Given the description of an element on the screen output the (x, y) to click on. 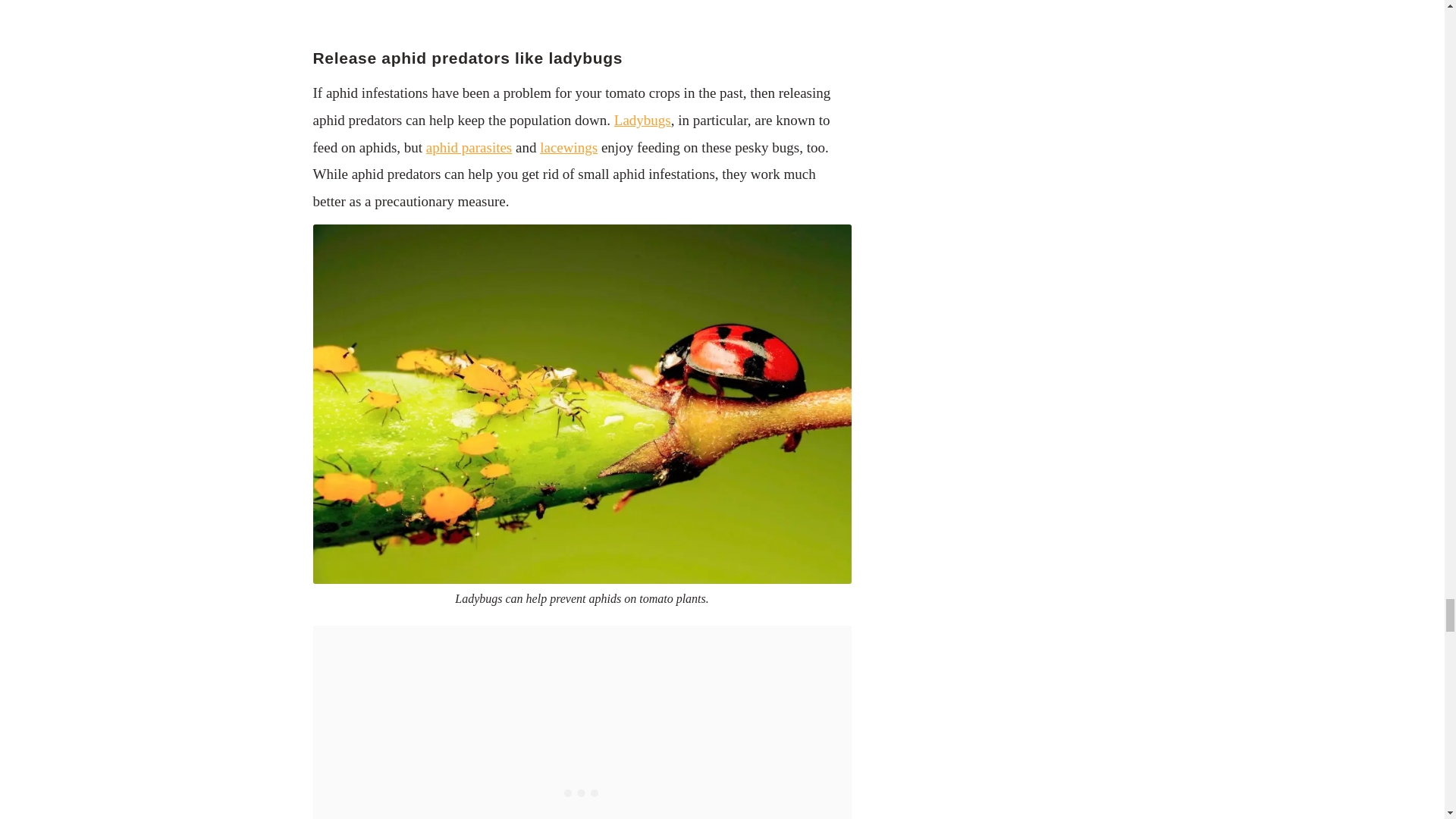
lacewings (568, 147)
Foolproof Aphid Control and Prevention (581, 7)
aphid parasites (469, 147)
Ladybugs (642, 119)
